Given the description of an element on the screen output the (x, y) to click on. 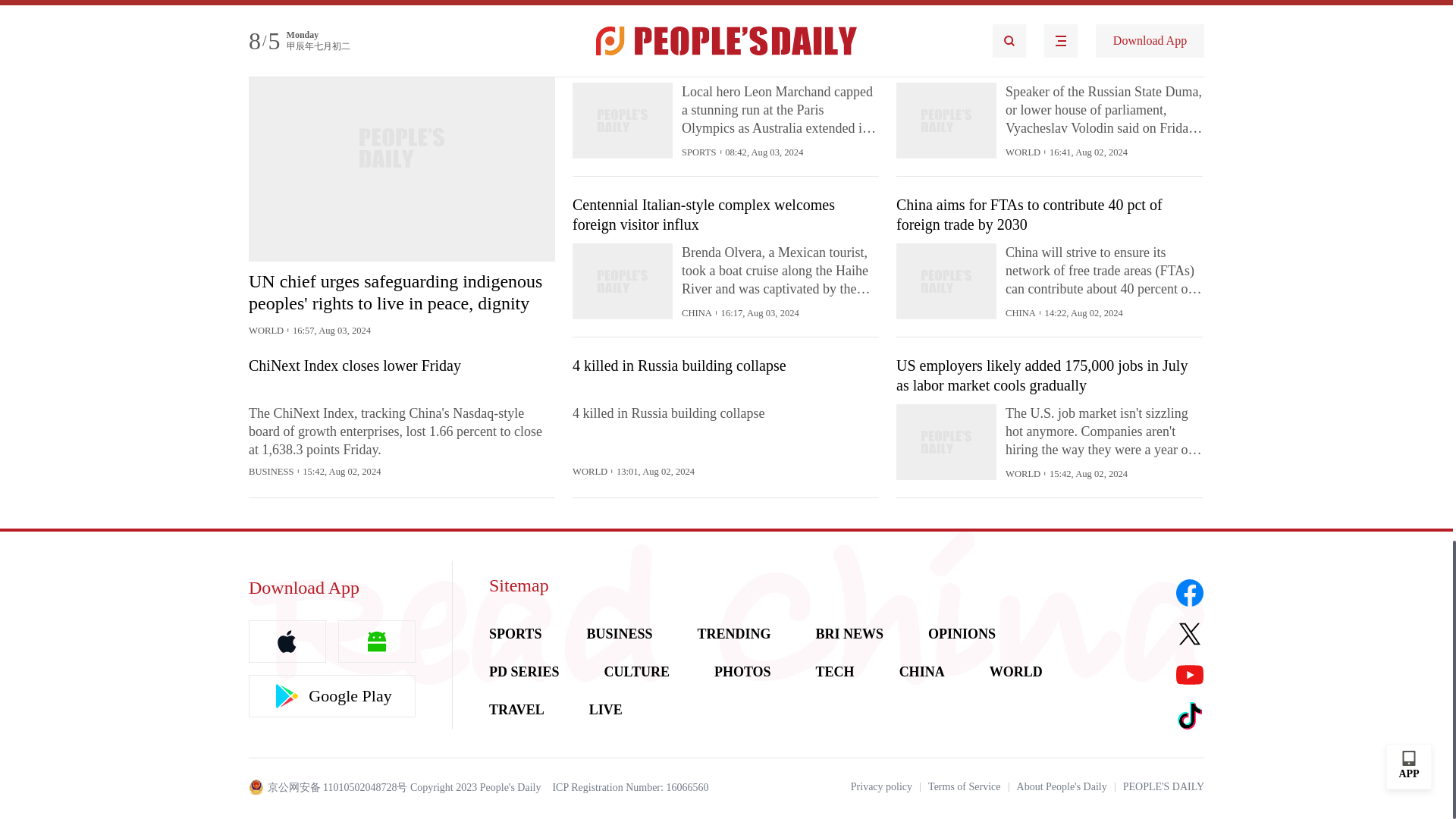
PEOPLE'S DAILY (1163, 787)
Google Play (331, 695)
ICP Registration Number: 16066560 (629, 787)
Terms of Service (964, 787)
Privacy policy (881, 787)
About People's Daily (1061, 787)
